Given the description of an element on the screen output the (x, y) to click on. 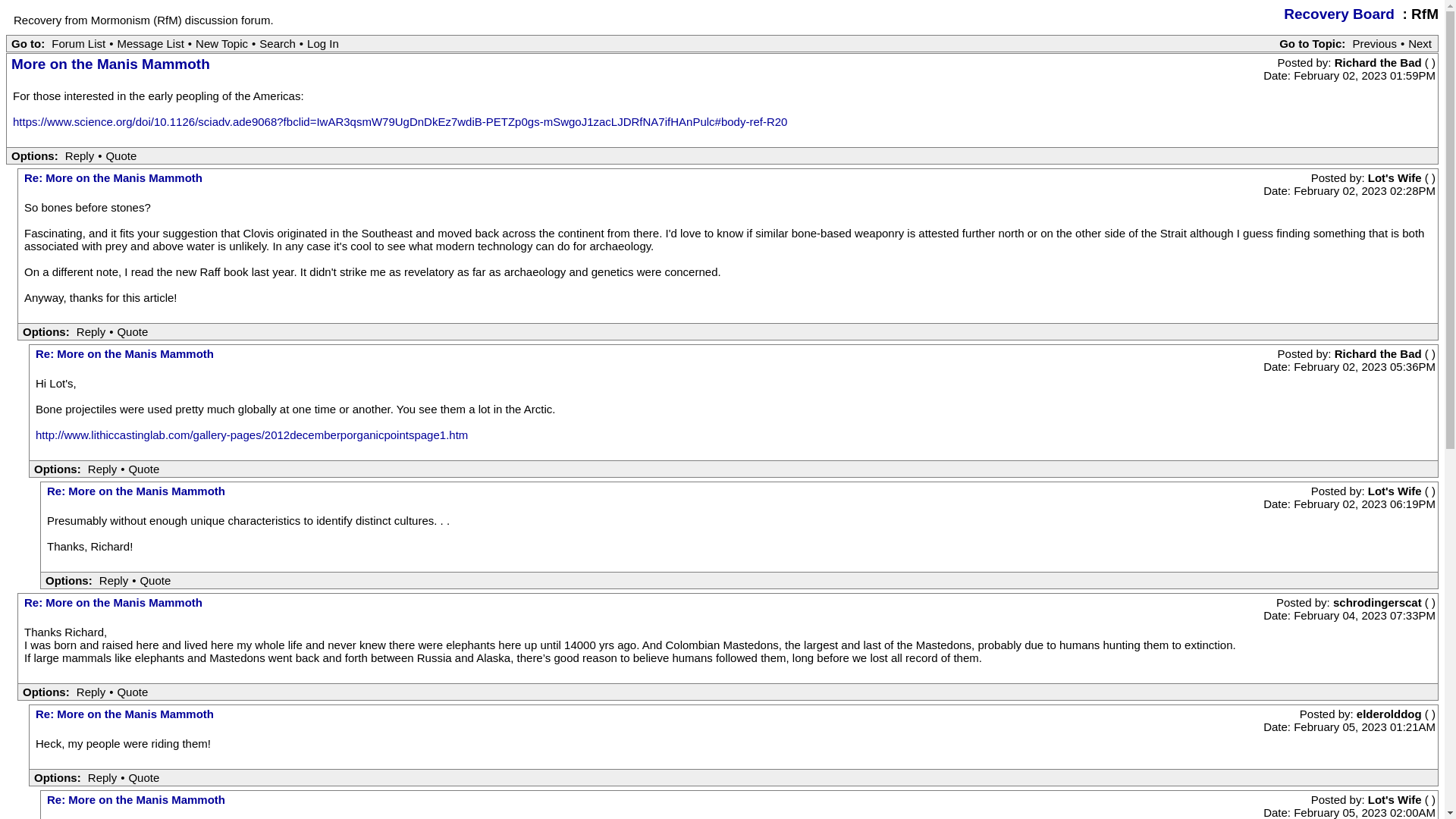
Re: More on the Manis Mammoth (135, 490)
Quote (132, 691)
Quote (143, 777)
Reply (114, 580)
Message List (150, 43)
Re: More on the Manis Mammoth (124, 353)
More on the Manis Mammoth (110, 64)
Re: More on the Manis Mammoth (113, 602)
Quote (120, 155)
Quote (132, 331)
Re: More on the Manis Mammoth (113, 177)
Search (277, 43)
Log In (322, 43)
Reply (90, 331)
Previous (1374, 43)
